Given the description of an element on the screen output the (x, y) to click on. 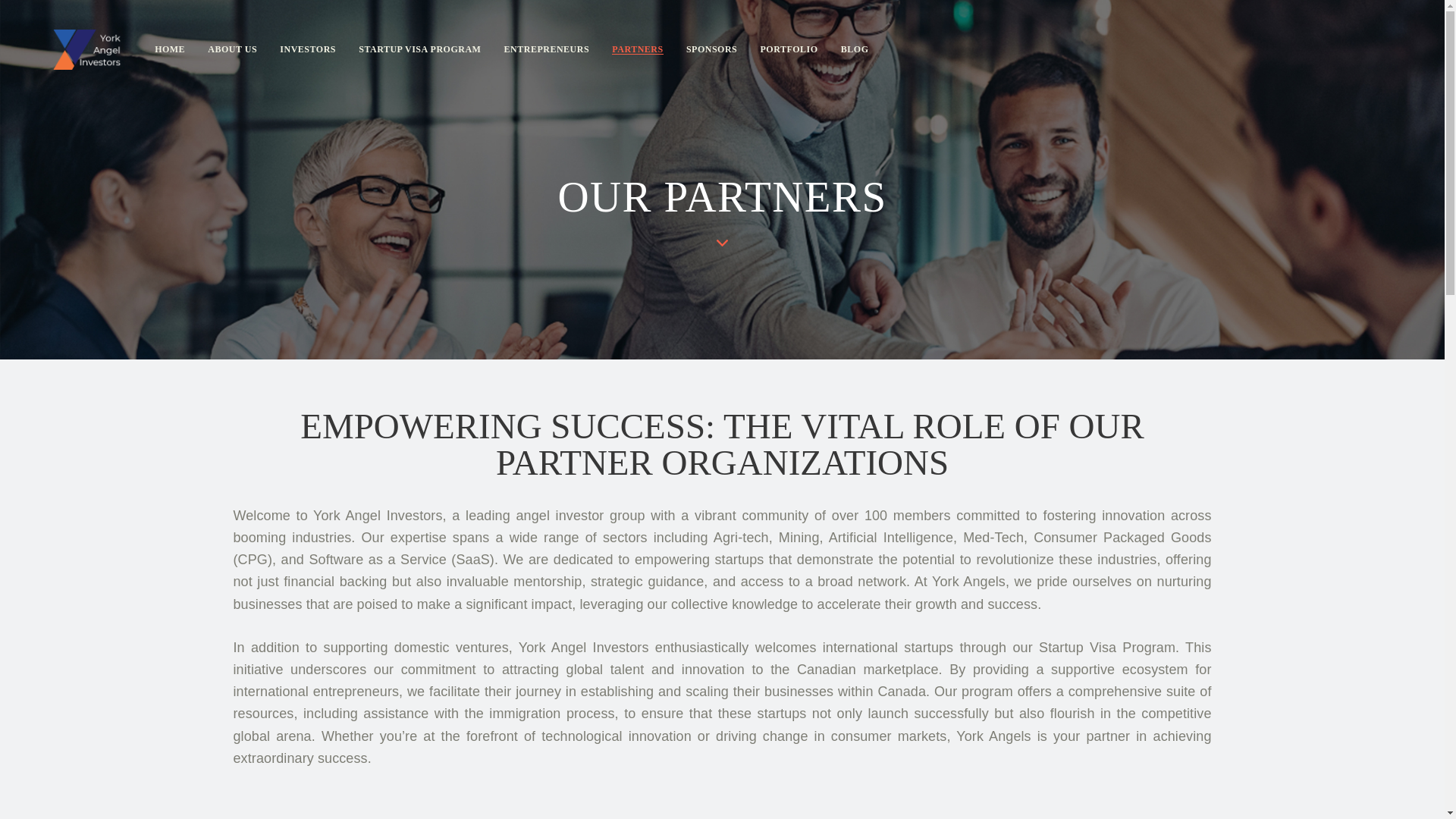
STARTUP VISA PROGRAM (419, 49)
ABOUT US (231, 49)
ENTREPRENEURS (545, 49)
SPONSORS (712, 49)
PARTNERS (637, 49)
HOME (169, 49)
INVESTORS (307, 49)
BLOG (854, 49)
PORTFOLIO (788, 49)
